Given the description of an element on the screen output the (x, y) to click on. 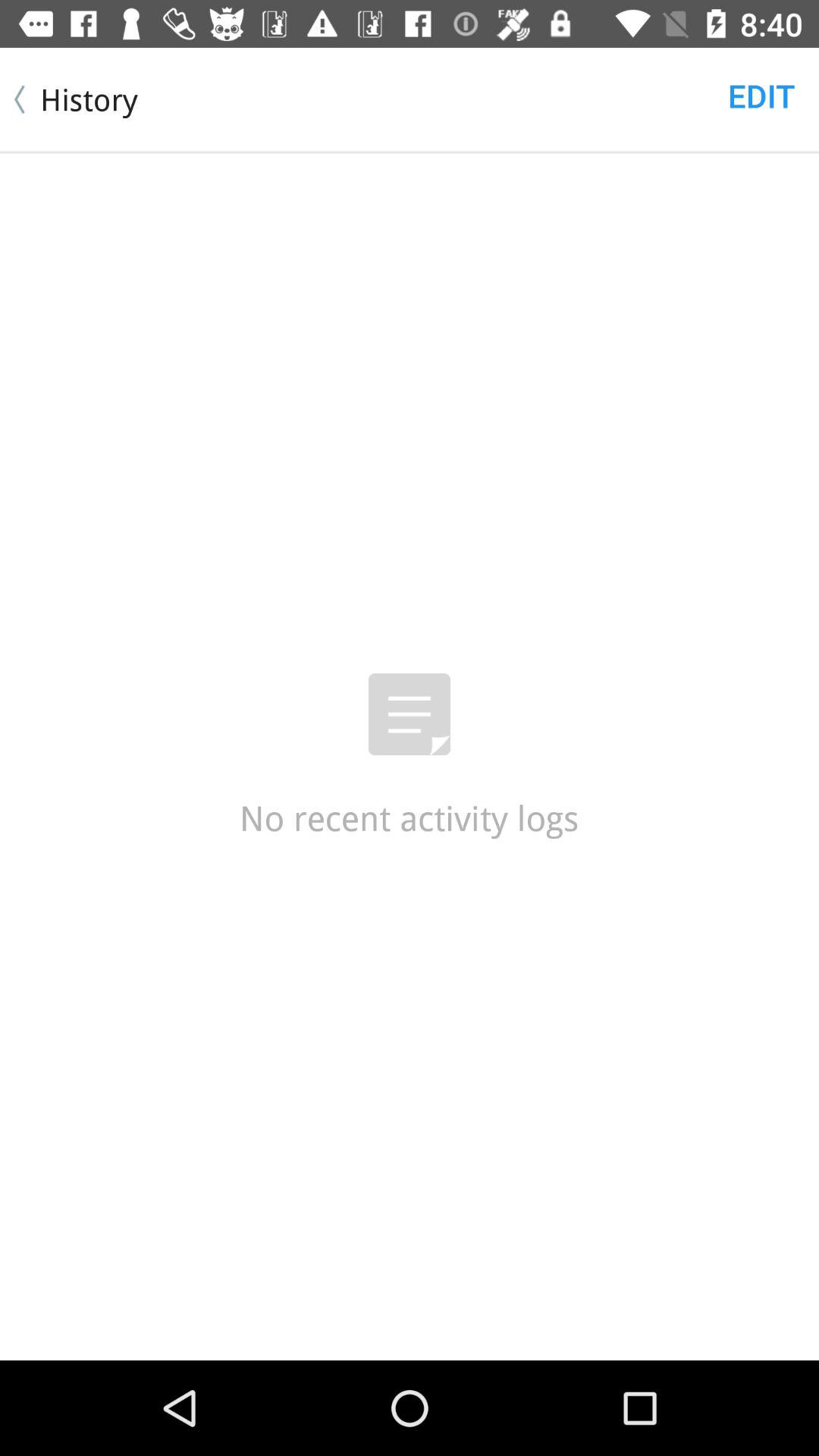
press icon to the right of history icon (761, 95)
